Given the description of an element on the screen output the (x, y) to click on. 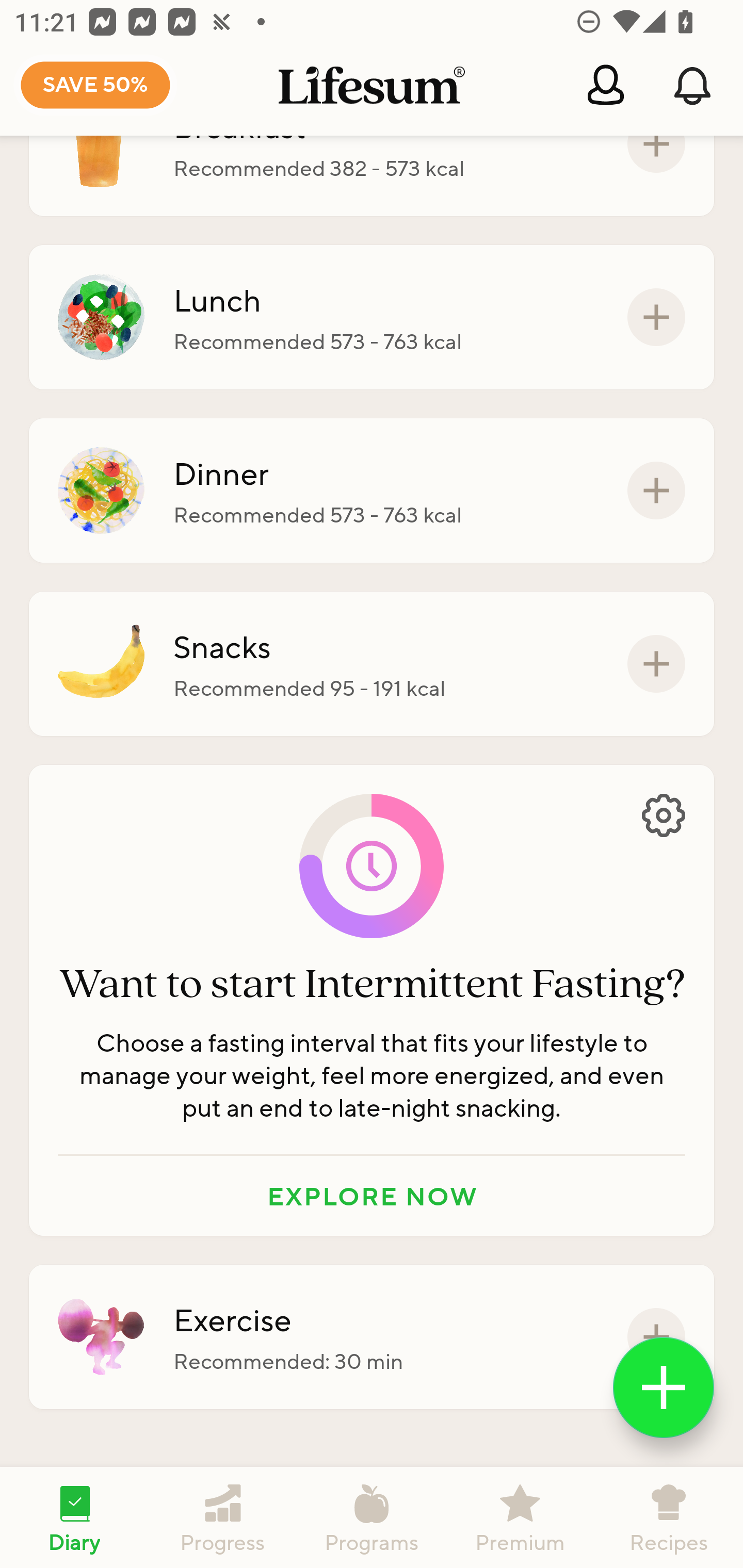
Lunch Recommended 573 - 763 kcal (371, 316)
Dinner Recommended 573 - 763 kcal (371, 490)
Snacks Recommended 95 - 191 kcal (371, 663)
EXPLORE NOW (371, 1195)
Exercise Recommended: 30 min (371, 1337)
Progress (222, 1517)
Programs (371, 1517)
Premium (519, 1517)
Recipes (668, 1517)
